Given the description of an element on the screen output the (x, y) to click on. 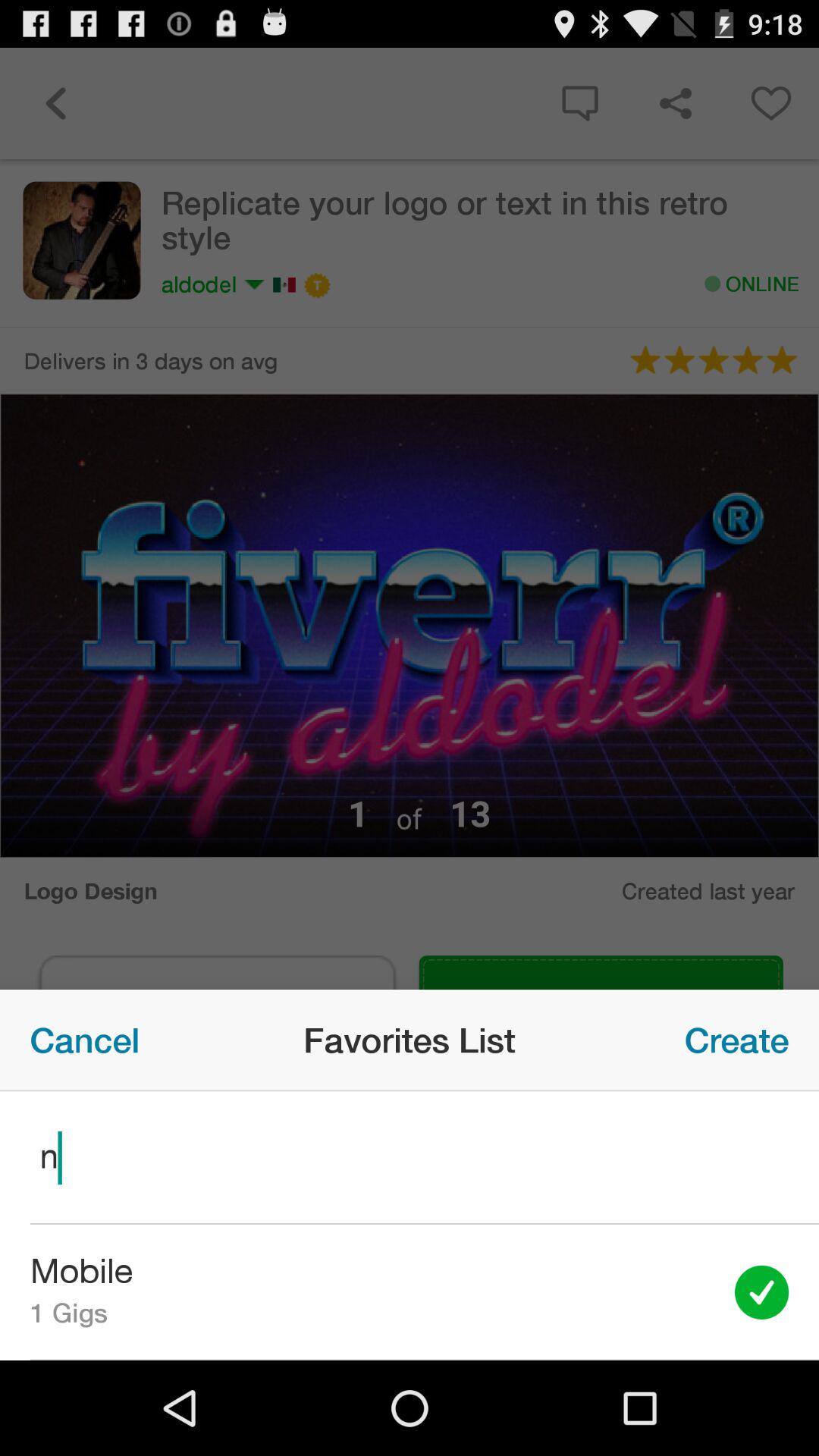
open cancel (84, 1039)
